Given the description of an element on the screen output the (x, y) to click on. 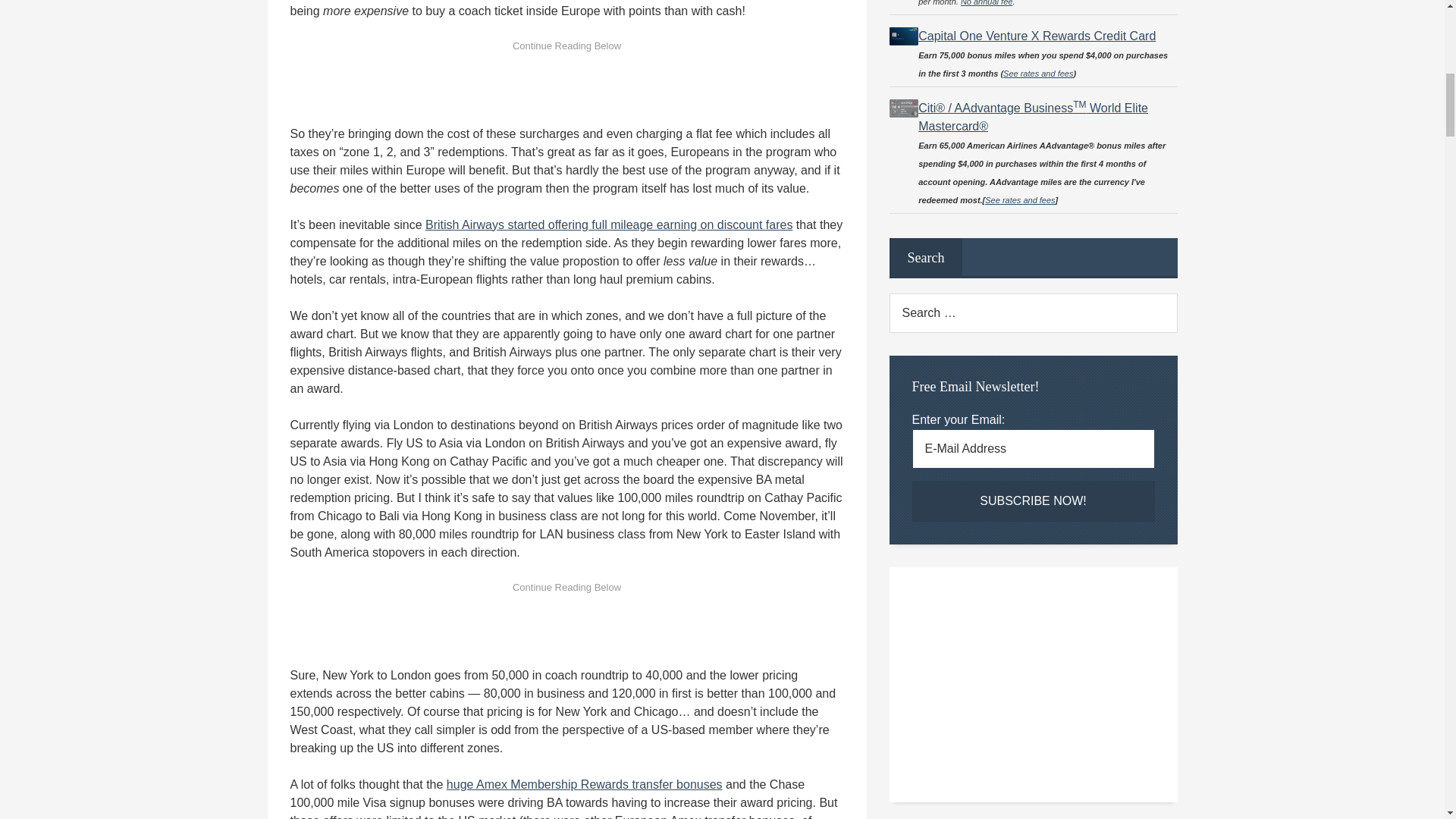
Subscribe Now! (1032, 500)
huge Amex Membership Rewards transfer bonuses (584, 784)
E-Mail Address (1032, 448)
